Given the description of an element on the screen output the (x, y) to click on. 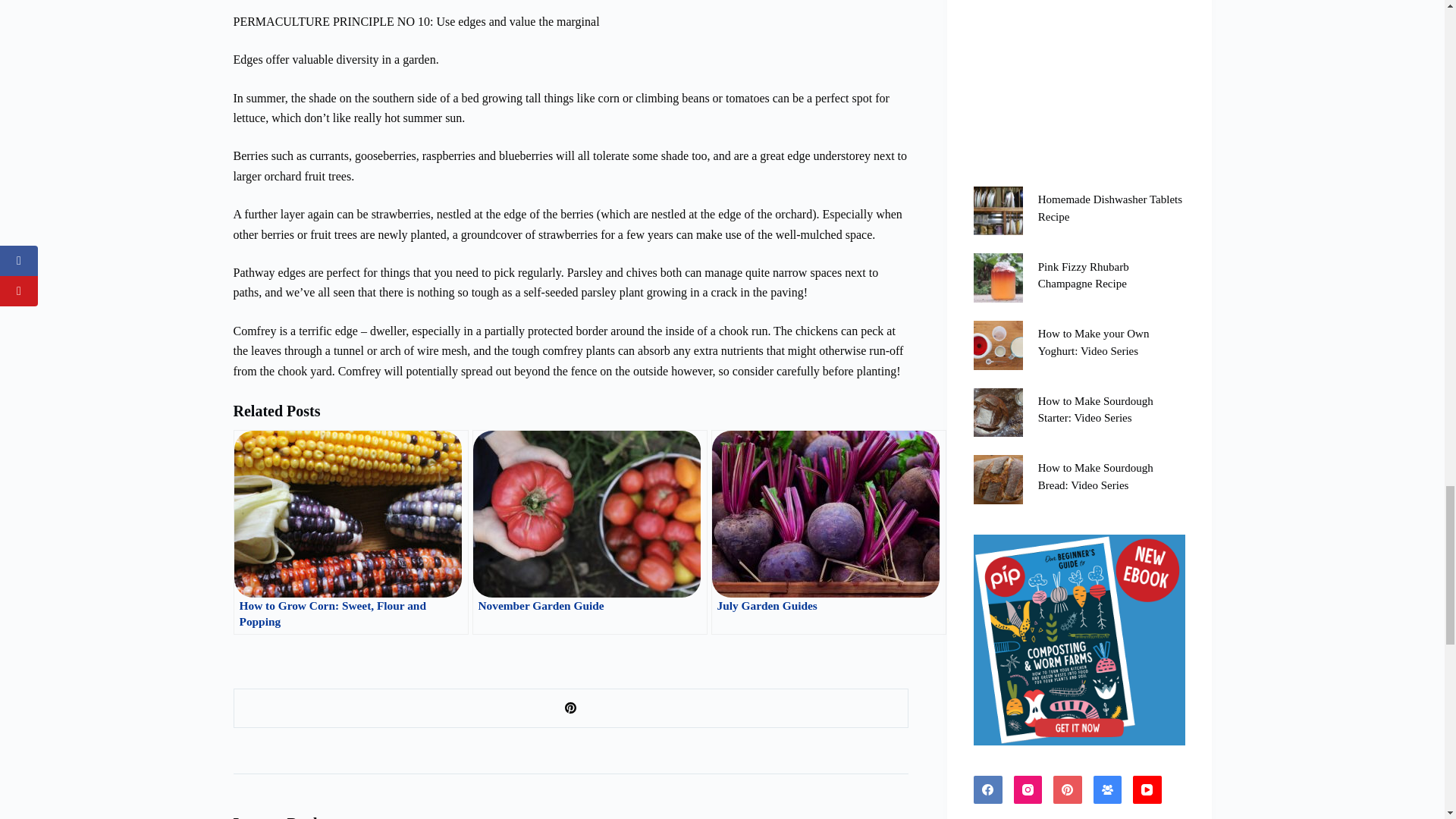
November Garden Guide (588, 531)
July Garden Guides (828, 531)
April Garden Guides (1067, 531)
How to Grow Corn: Sweet, Flour and Popping (350, 531)
